Given the description of an element on the screen output the (x, y) to click on. 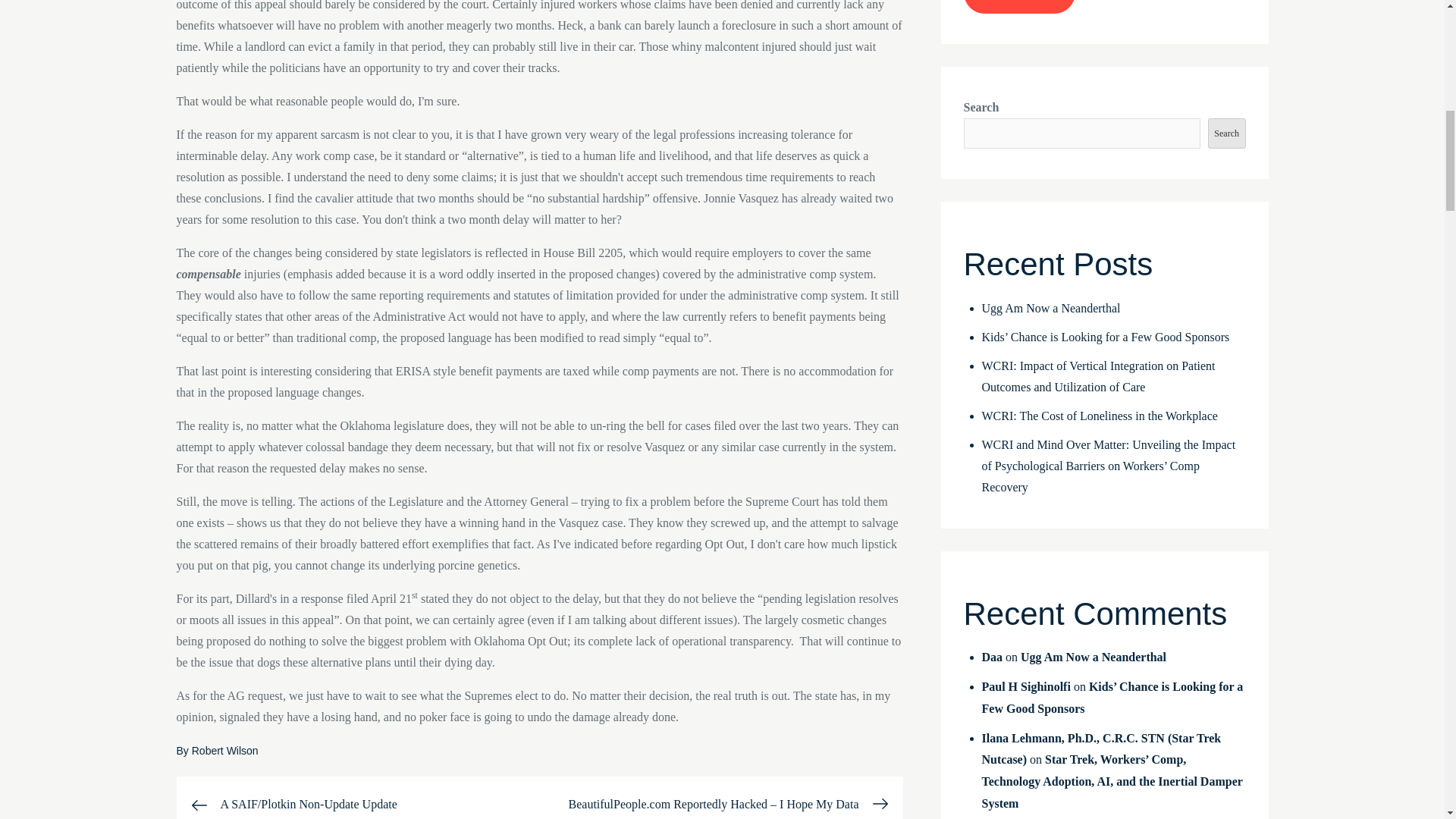
Search (1227, 132)
Ugg Am Now a Neanderthal (1093, 656)
Ugg Am Now a Neanderthal (1050, 308)
WCRI: The Cost of Loneliness in the Workplace (1099, 415)
Subscribe (1018, 6)
Subscribe (1018, 6)
Robert Wilson (225, 750)
